Given the description of an element on the screen output the (x, y) to click on. 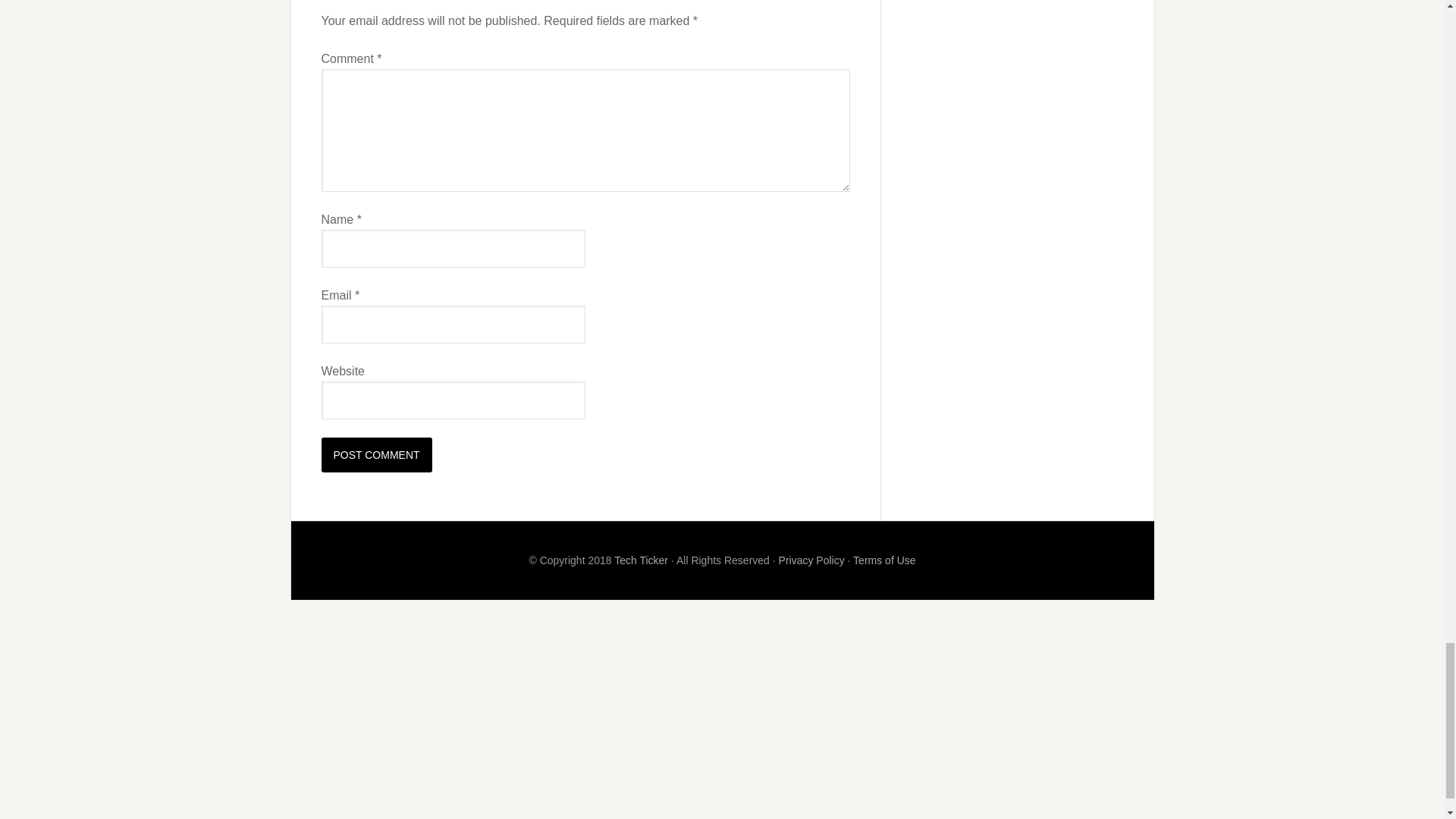
Post Comment (376, 454)
